Given the description of an element on the screen output the (x, y) to click on. 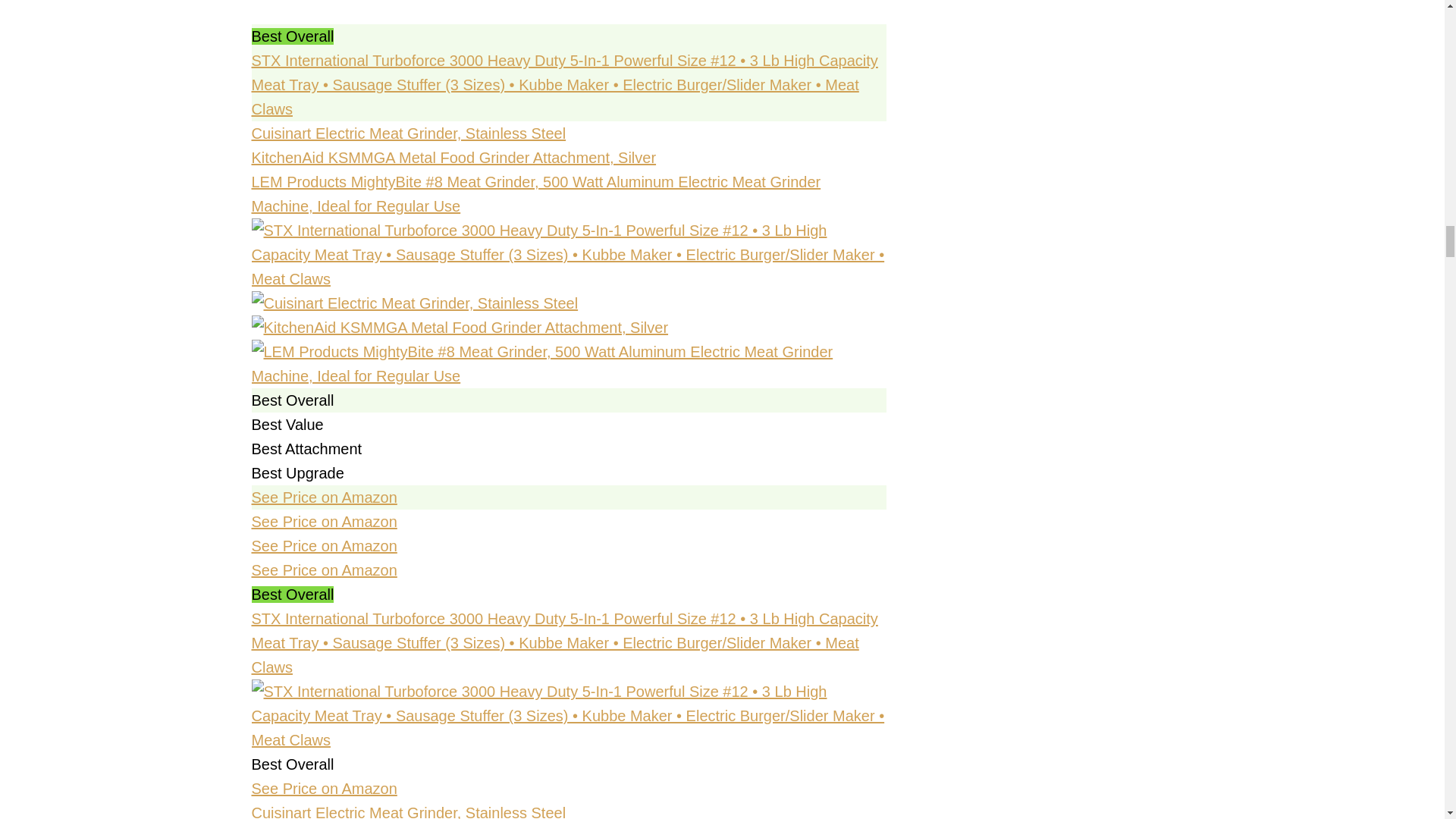
KitchenAid KSMMGA Metal Food Grinder Attachment, Silver (453, 157)
KitchenAid KSMMGA Metal Food Grinder Attachment, Silver (568, 327)
See Price on Amazon (324, 497)
See Price on Amazon (324, 521)
Cuisinart Electric Meat Grinder, Stainless Steel (568, 303)
See Price on Amazon (324, 545)
See Price on Amazon (324, 569)
Cuisinart Electric Meat Grinder, Stainless Steel (408, 133)
